Given the description of an element on the screen output the (x, y) to click on. 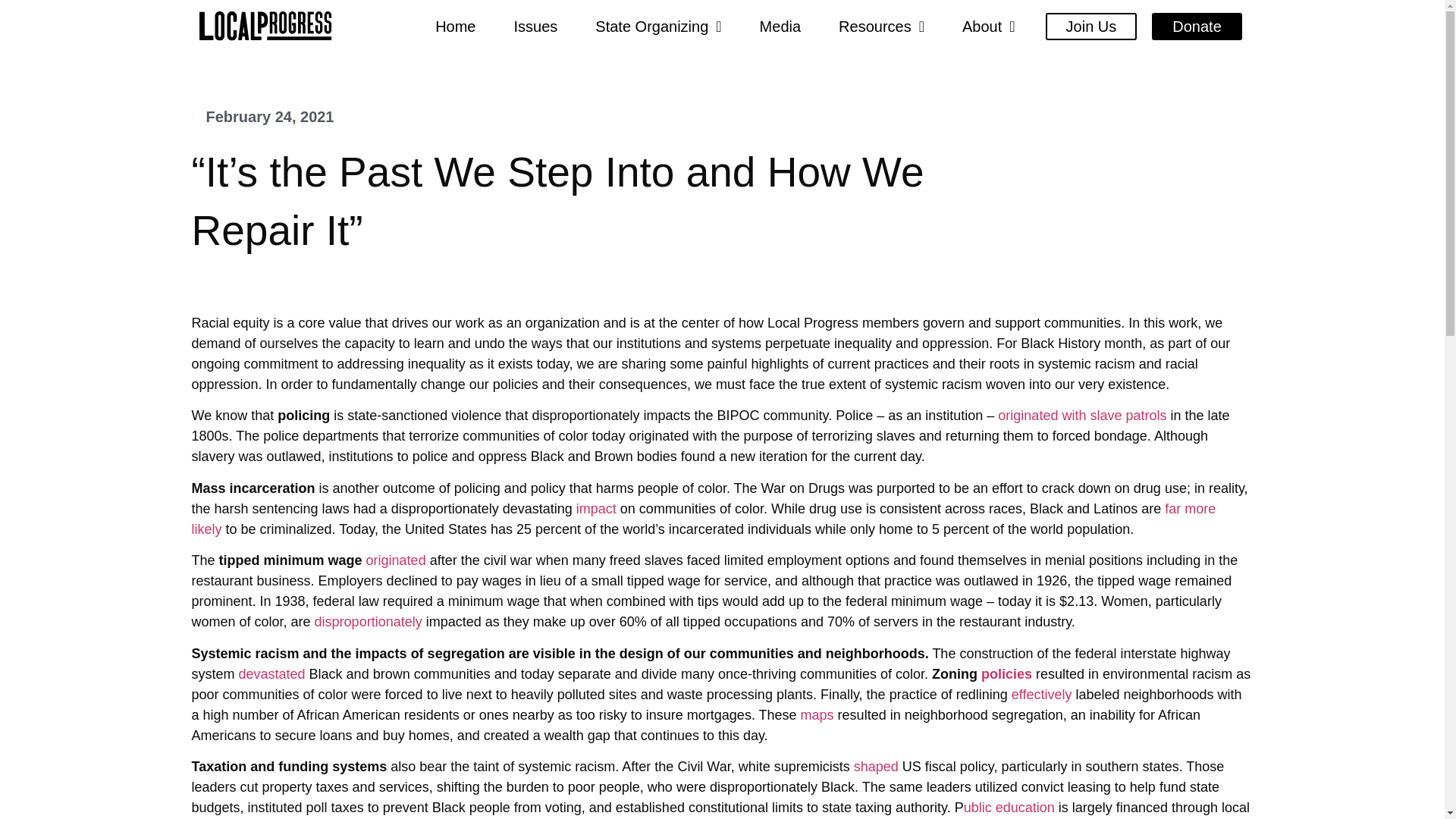
About (988, 5)
Resources (881, 2)
Media (780, 1)
